Given the description of an element on the screen output the (x, y) to click on. 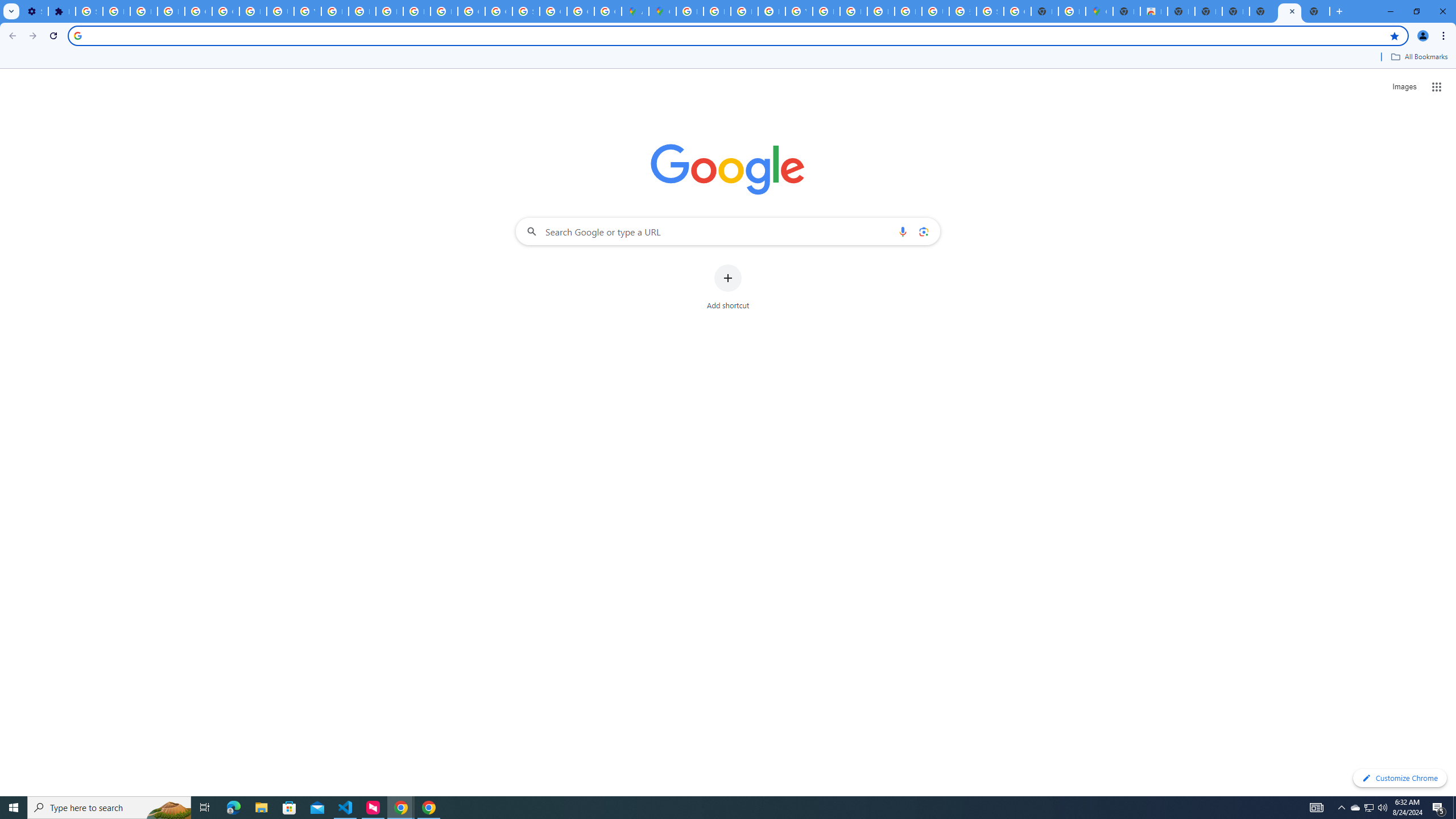
Add shortcut (727, 287)
New Tab (1126, 11)
YouTube (307, 11)
Google Maps (662, 11)
New Tab (1262, 11)
